Given the description of an element on the screen output the (x, y) to click on. 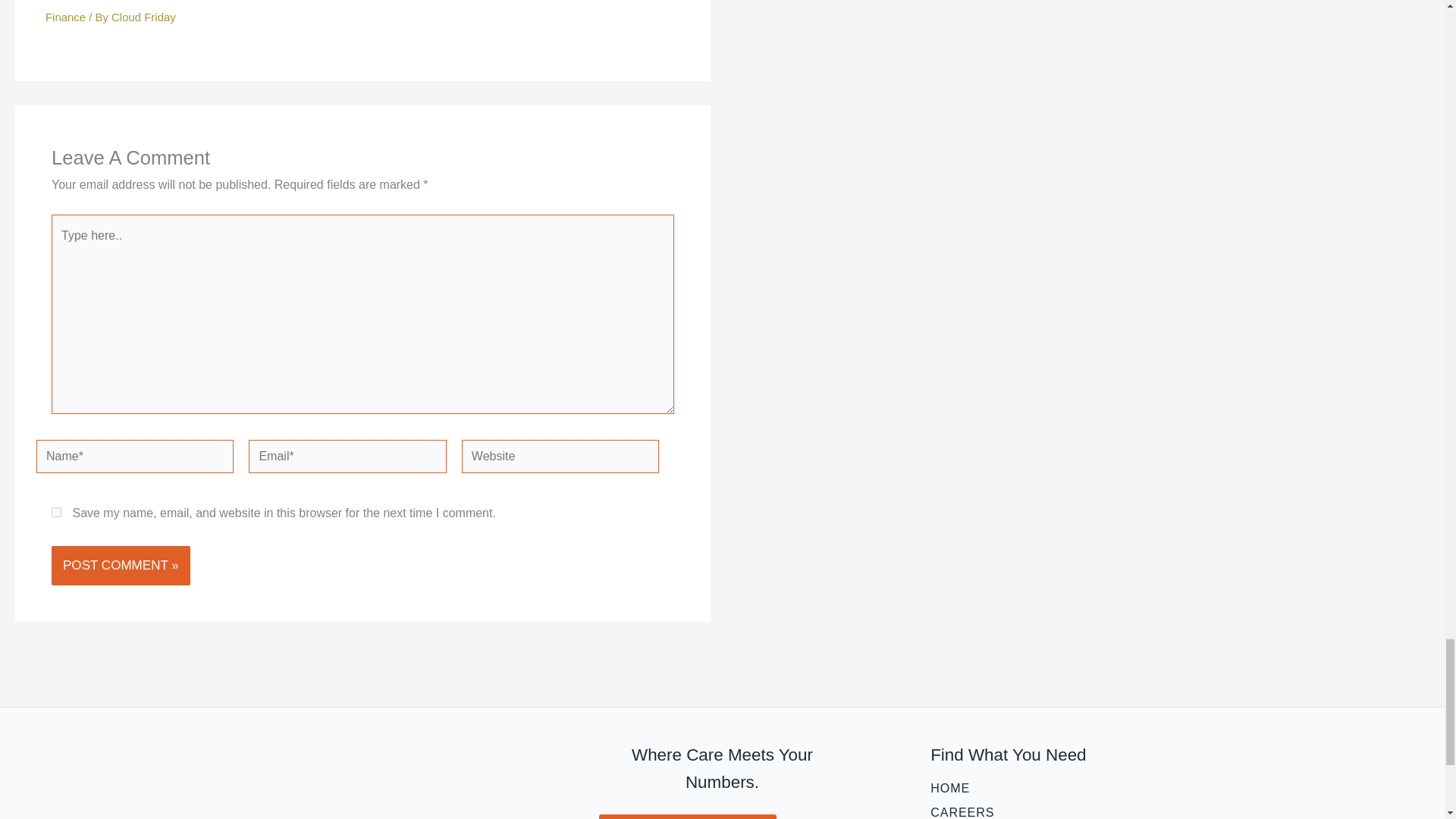
Finance (65, 16)
Cloud Friday (144, 16)
View all posts by Cloud Friday (144, 16)
yes (55, 511)
